Given the description of an element on the screen output the (x, y) to click on. 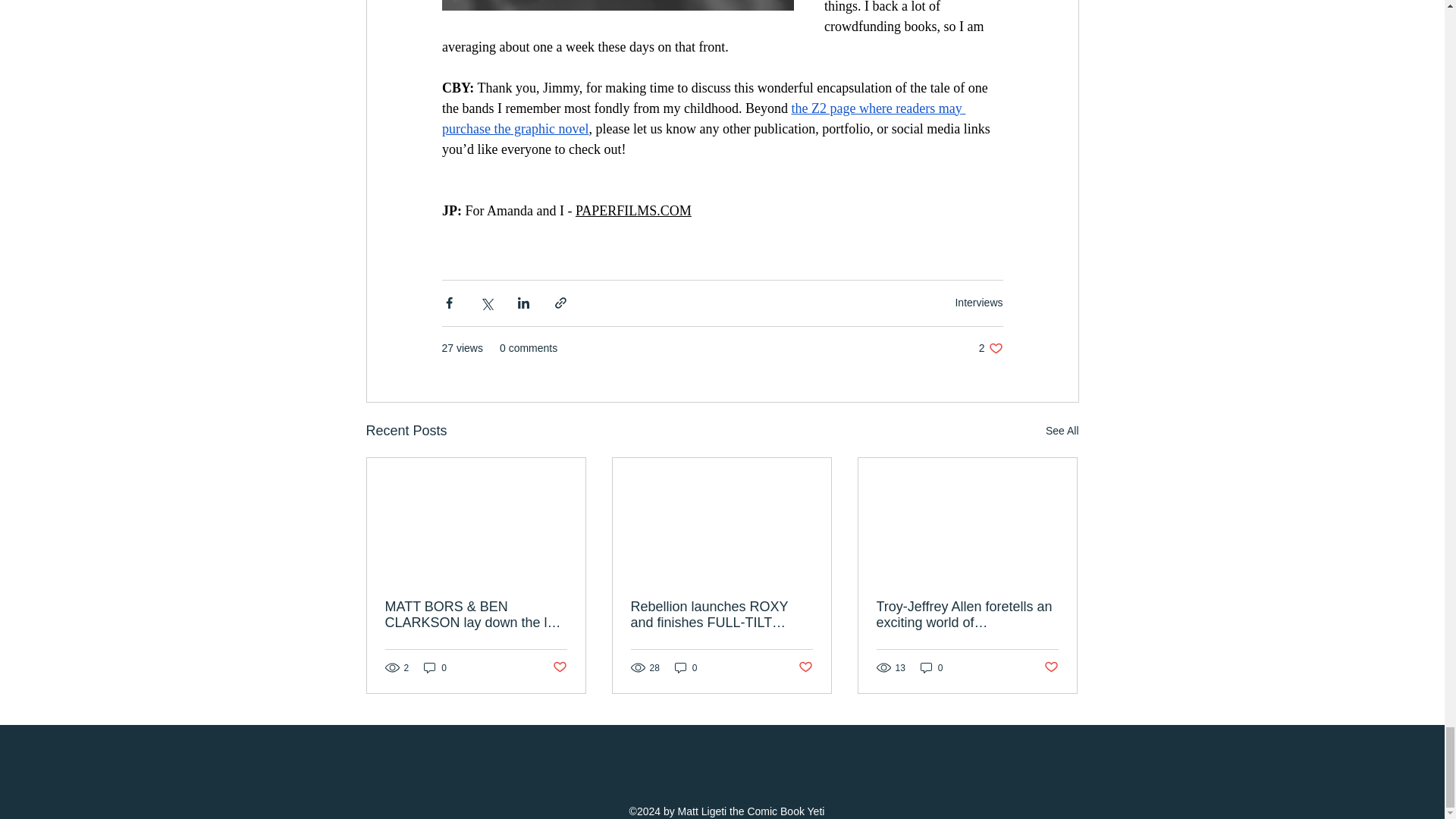
PAPERFILMS.COM (632, 210)
the Z2 page where readers may purchase the graphic novel (702, 118)
JP: (451, 210)
